Given the description of an element on the screen output the (x, y) to click on. 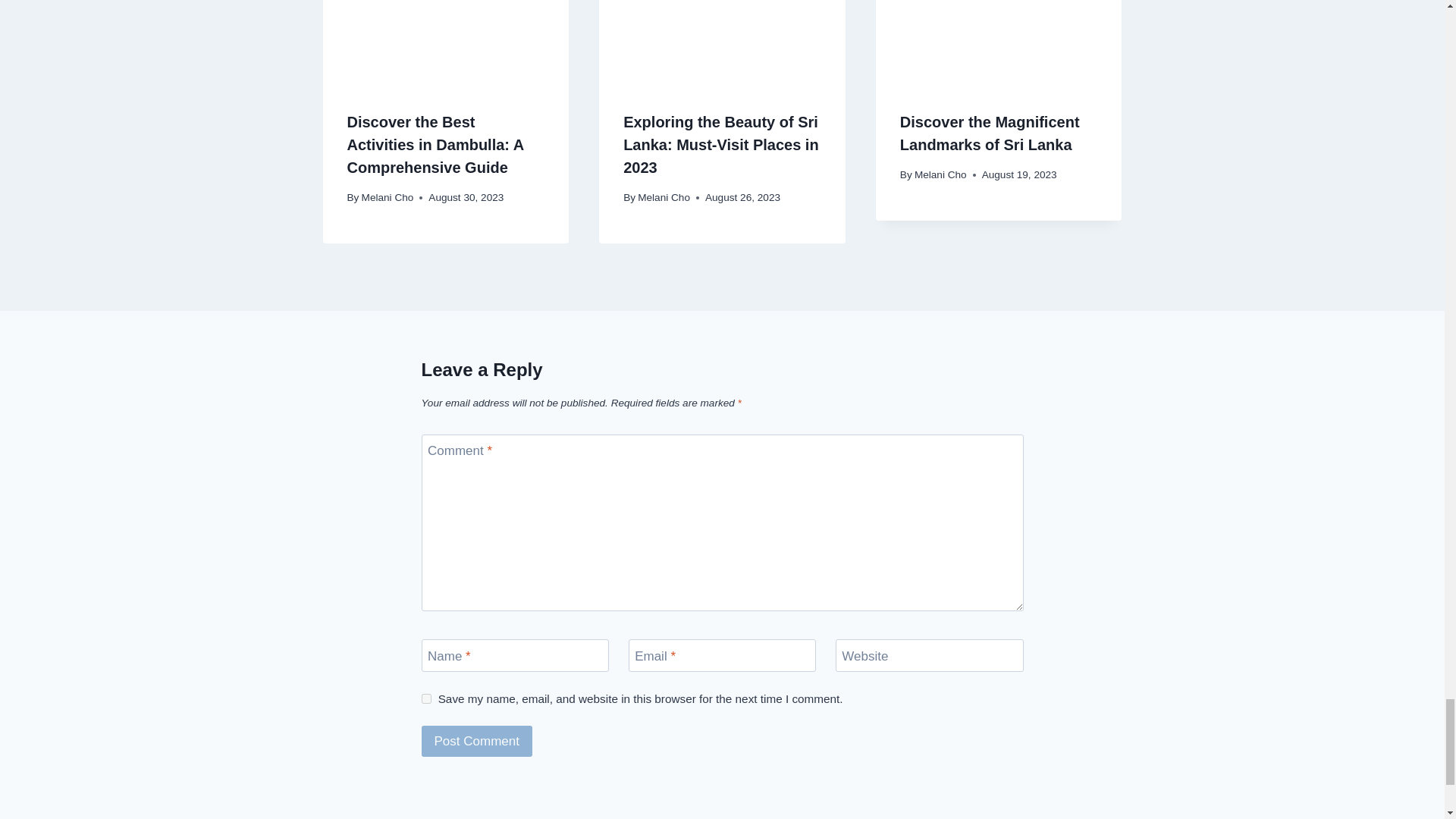
yes (426, 698)
Post Comment (477, 740)
